Given the description of an element on the screen output the (x, y) to click on. 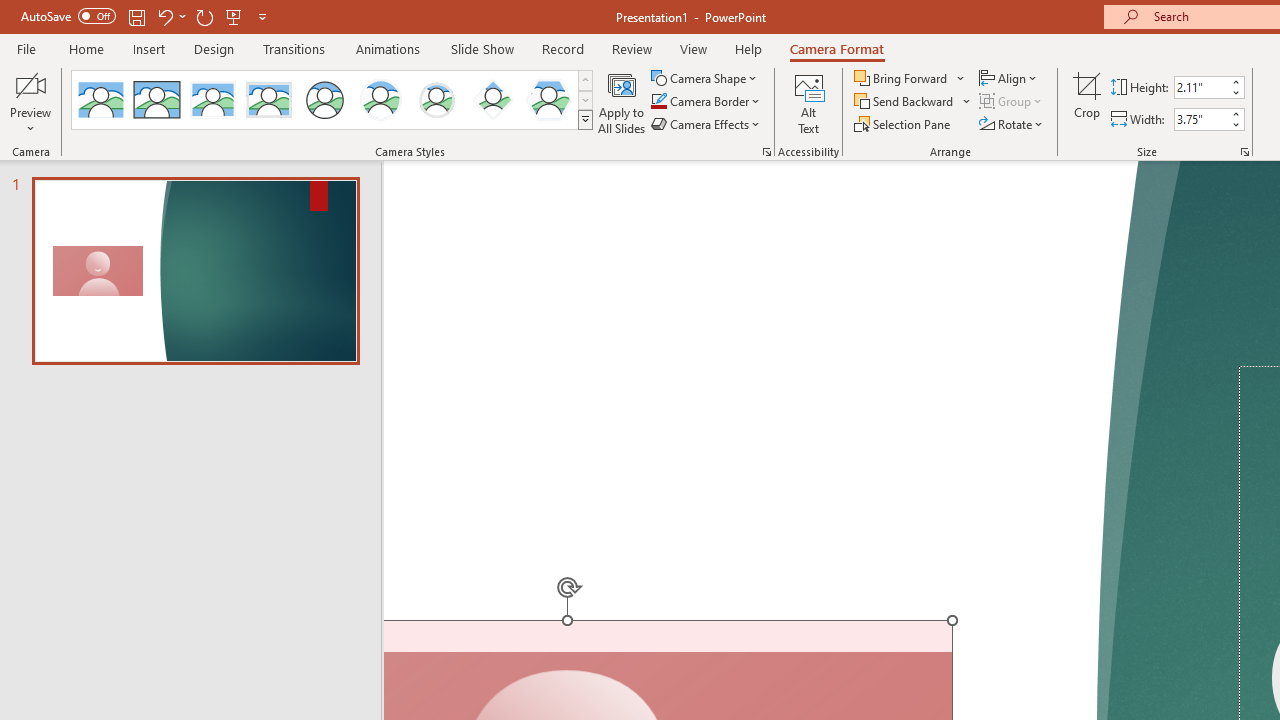
More (1235, 113)
Preview (30, 102)
Camera Effects (706, 124)
Send Backward (905, 101)
Simple Frame Circle (324, 100)
Center Shadow Diamond (492, 100)
Row up (585, 79)
